Given the description of an element on the screen output the (x, y) to click on. 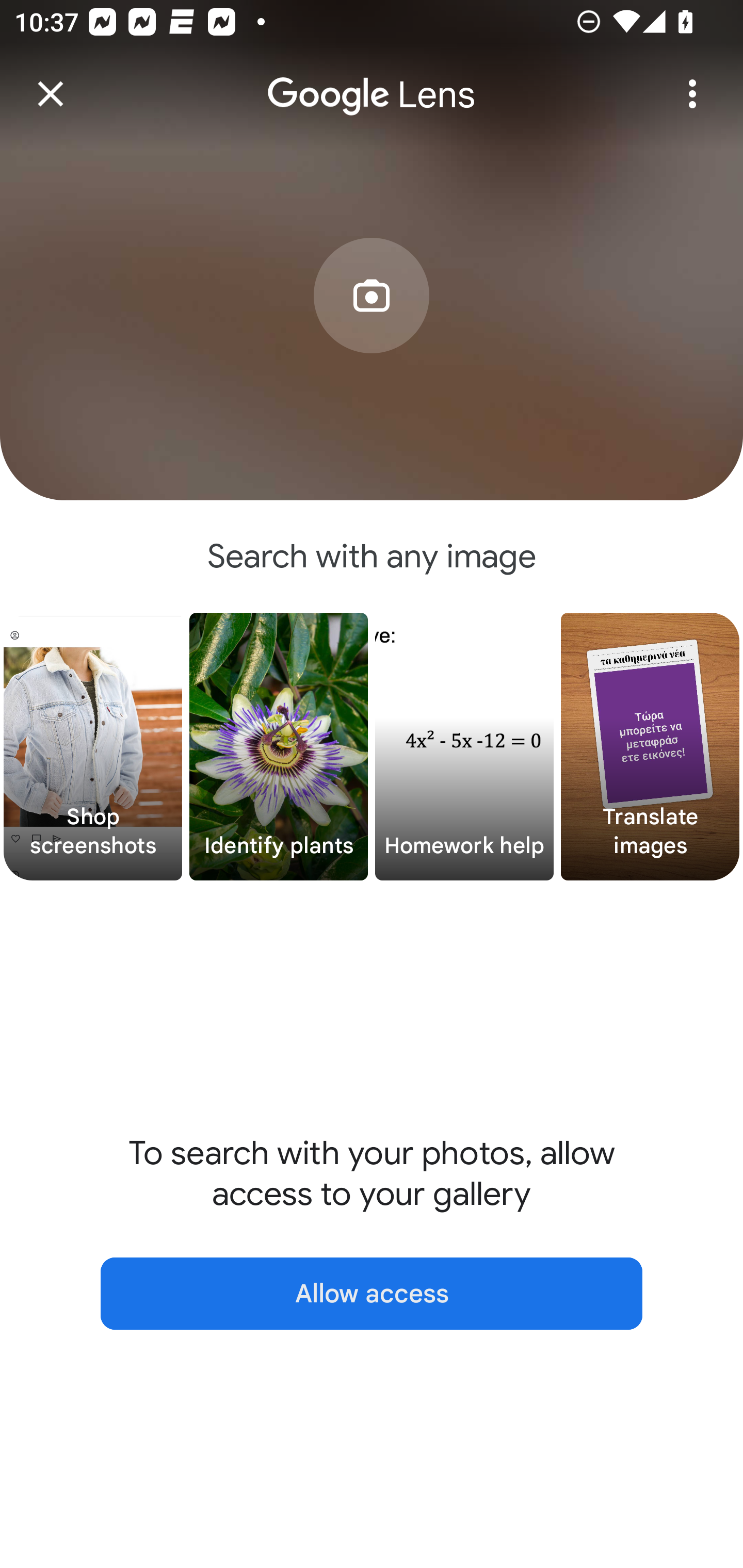
Google Lens Lens (371, 80)
Close (50, 94)
More options (692, 94)
Search with your camera (371, 326)
Shop screenshots (92, 747)
Identify plants (278, 747)
Homework help (464, 747)
Translate images (649, 747)
Allow access (371, 1293)
